Given the description of an element on the screen output the (x, y) to click on. 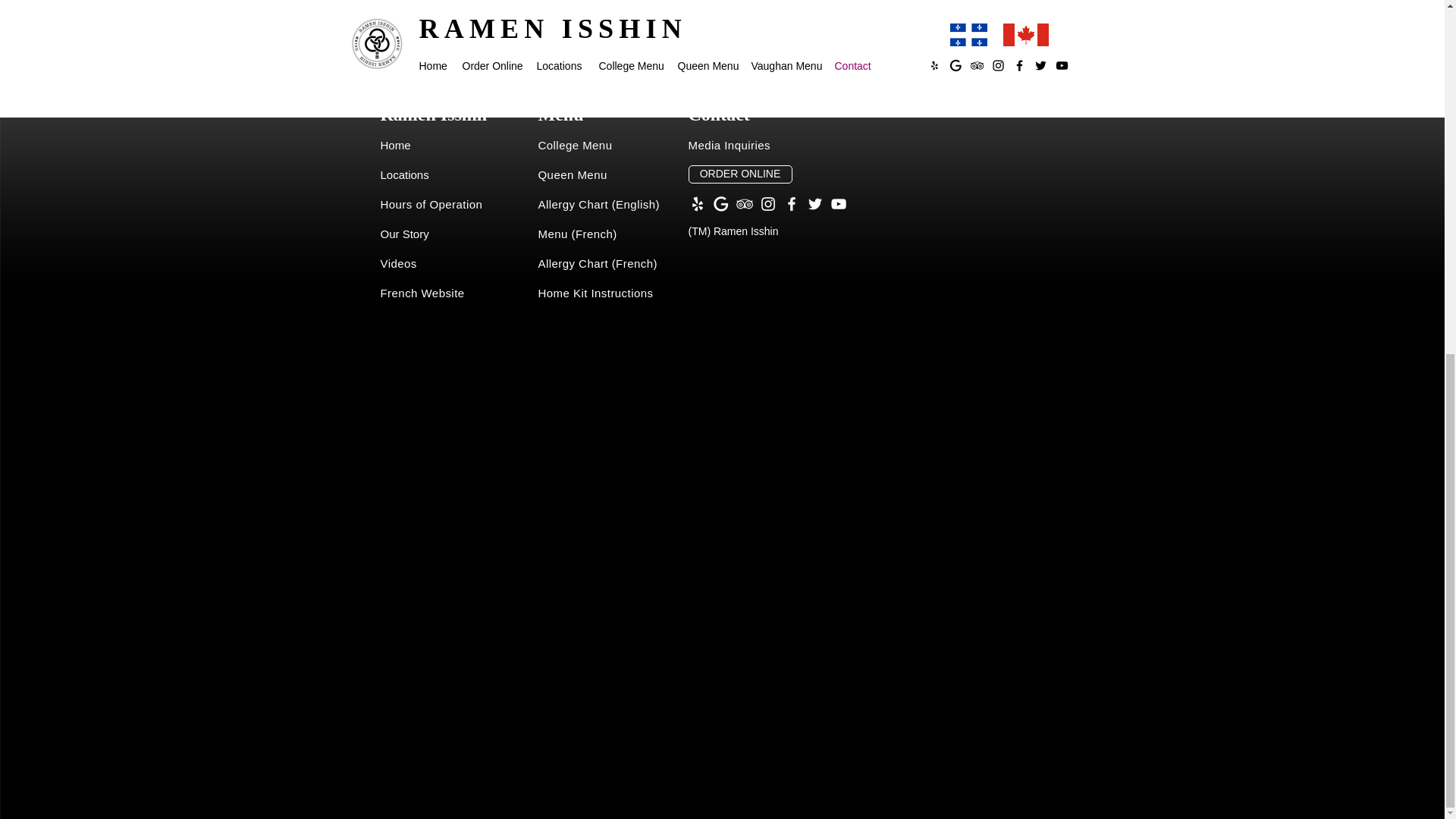
Videos (398, 263)
Locations (404, 174)
Home (395, 144)
Hours of Operation (431, 204)
Our Story (404, 233)
Ramen Isshin (433, 114)
